Given the description of an element on the screen output the (x, y) to click on. 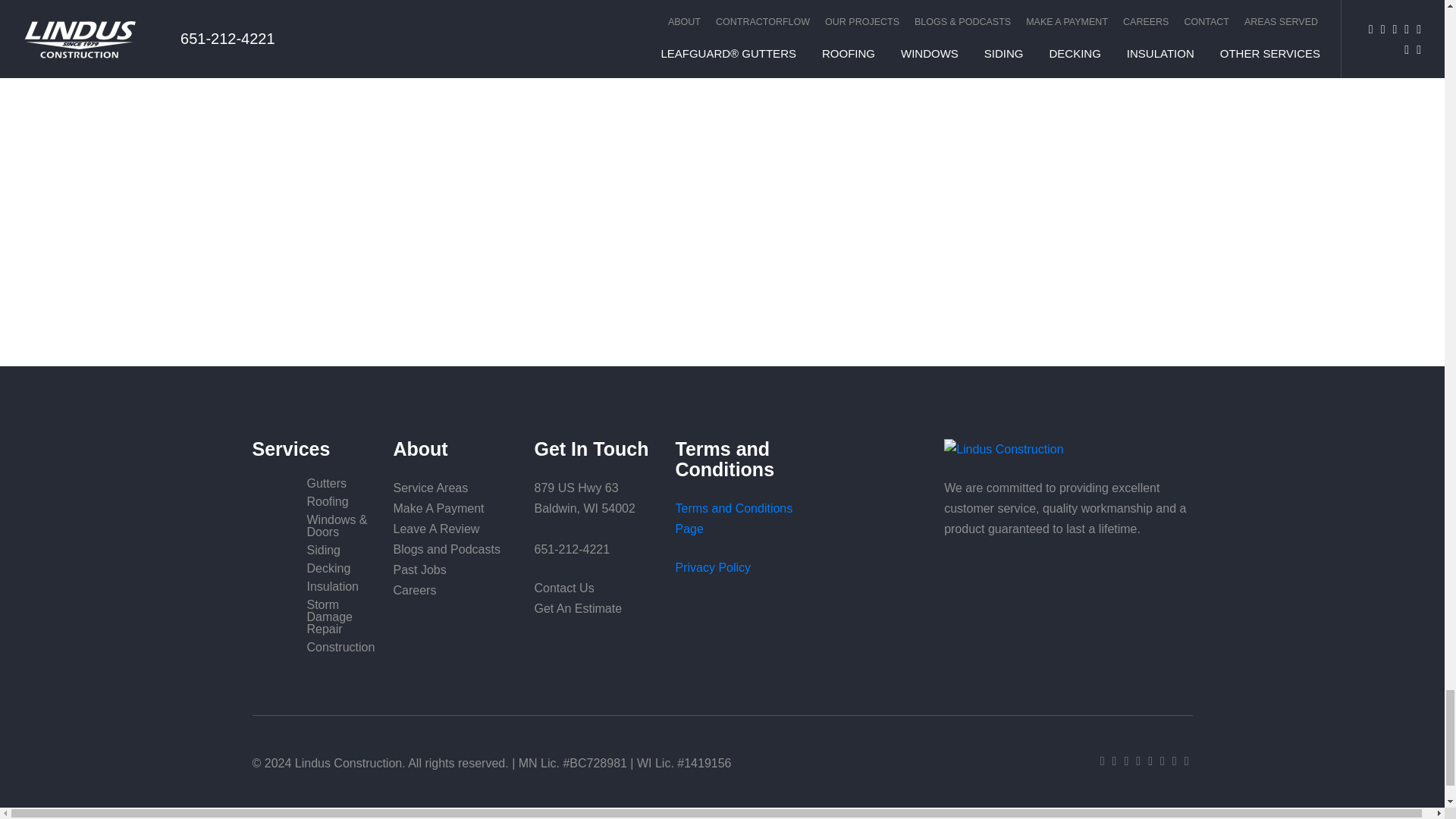
Lindus Construction (1067, 448)
